Given the description of an element on the screen output the (x, y) to click on. 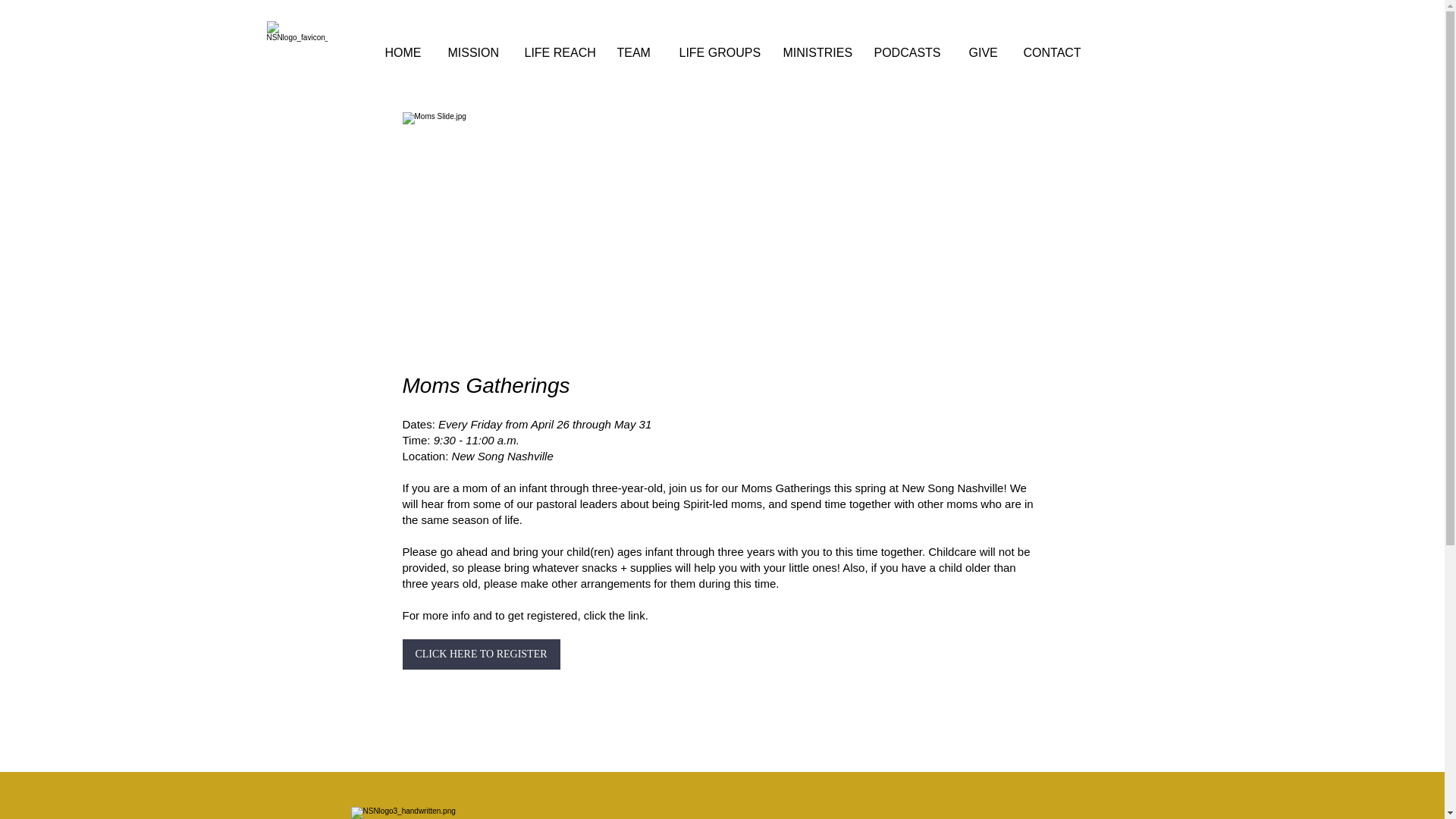
HOME (403, 53)
CLICK HERE TO REGISTER (480, 654)
PODCASTS (910, 53)
CONTACT (1055, 53)
